Given the description of an element on the screen output the (x, y) to click on. 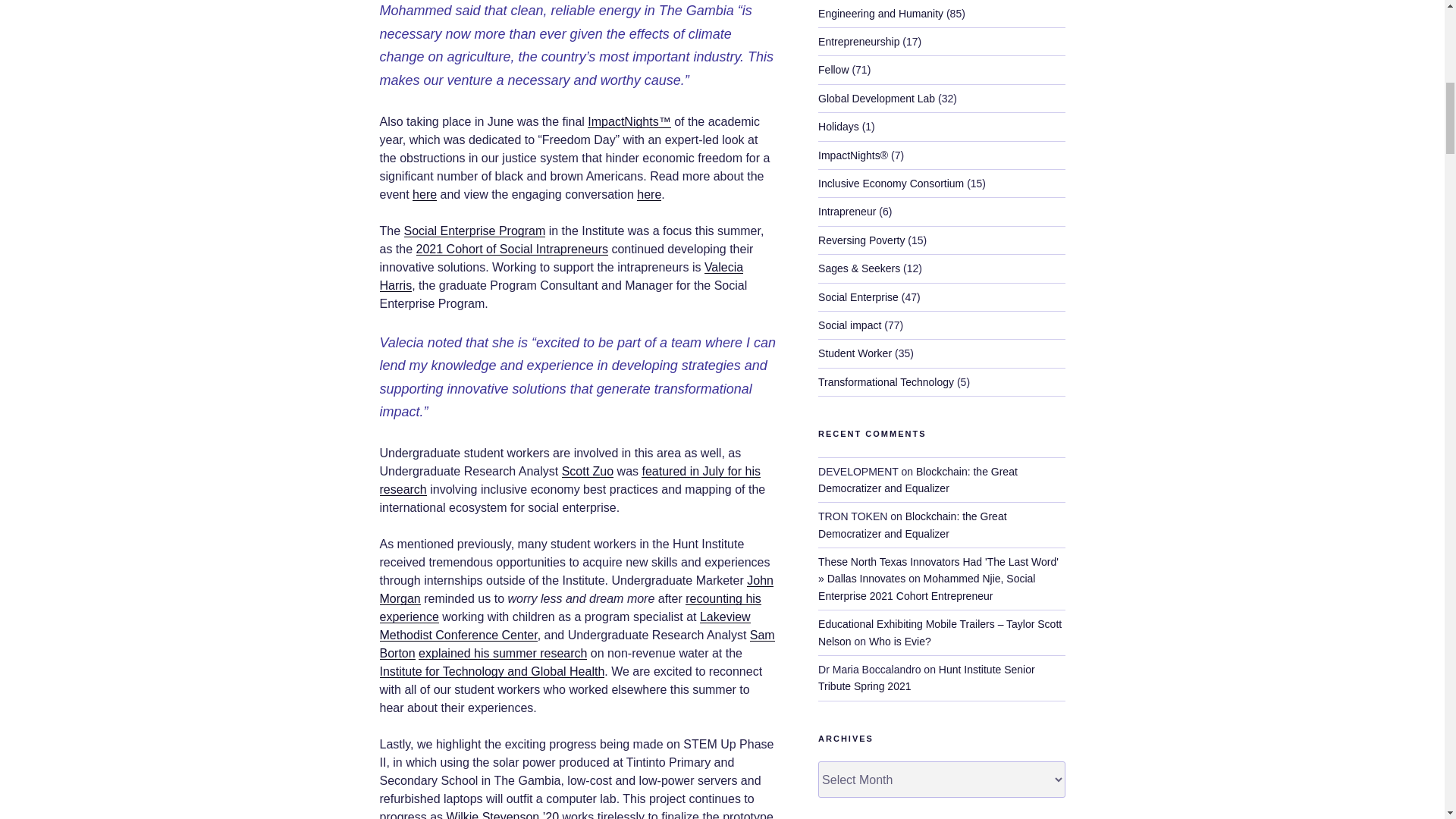
John Morgan (575, 589)
here (424, 194)
Sam Borton (576, 644)
here (649, 194)
2021 Cohort of Social Intrapreneurs (512, 248)
Institute for Technology and Global Health (491, 671)
Valecia Harris (560, 276)
recounting his experience (569, 607)
featured in July for his research (569, 480)
Scott Zuo (587, 471)
Lakeview Methodist Conference Center (563, 625)
Social Enterprise Program (475, 230)
ImpactNights (623, 121)
explained his summer research (502, 653)
